Given the description of an element on the screen output the (x, y) to click on. 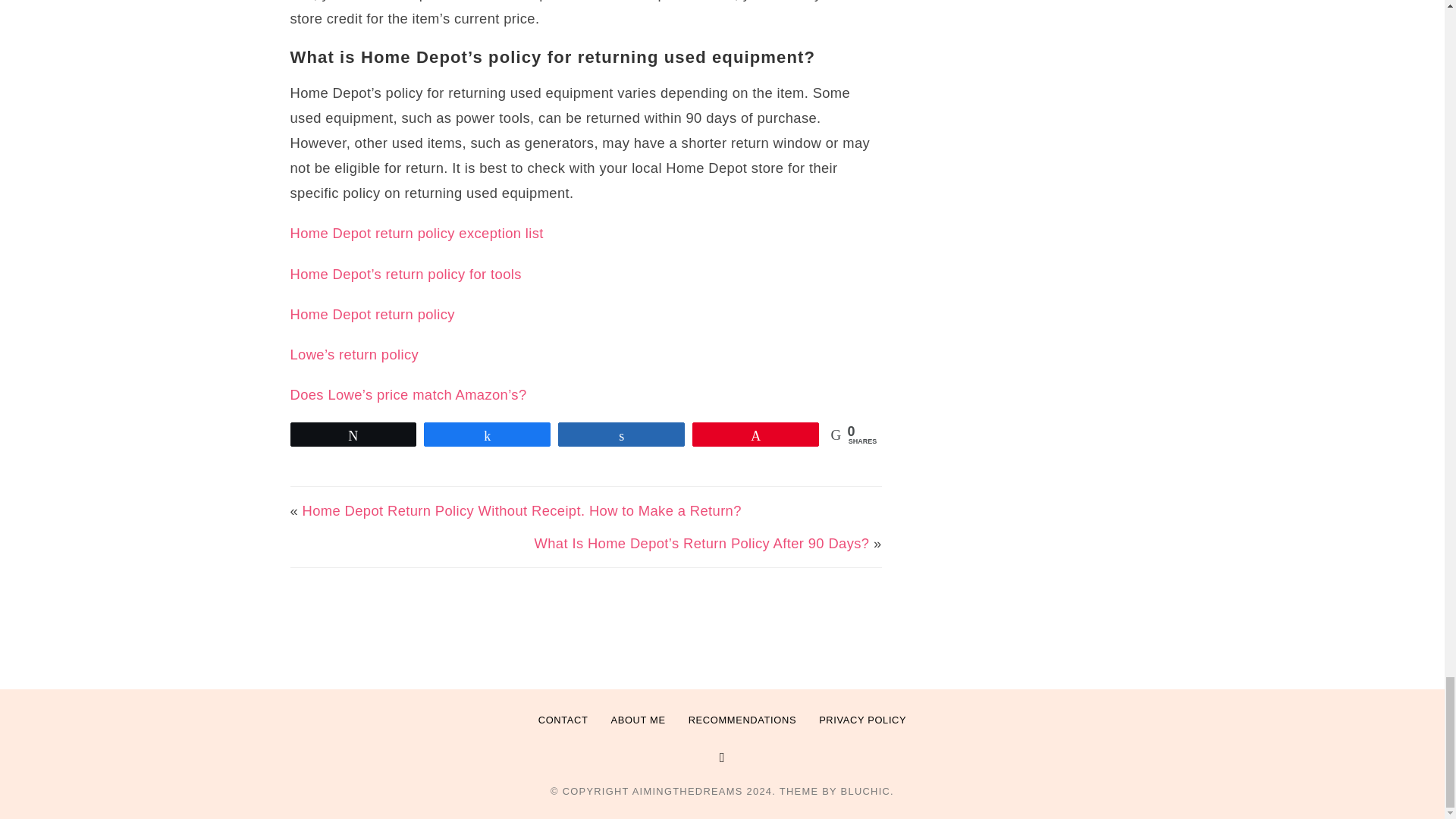
BLUCHIC (866, 790)
AIMINGTHEDREAMS (686, 790)
ABOUT ME (637, 720)
PRIVACY POLICY (862, 720)
Home Depot return policy exception list (416, 232)
CONTACT (563, 720)
Home Depot return policy (371, 314)
RECOMMENDATIONS (742, 720)
